Given the description of an element on the screen output the (x, y) to click on. 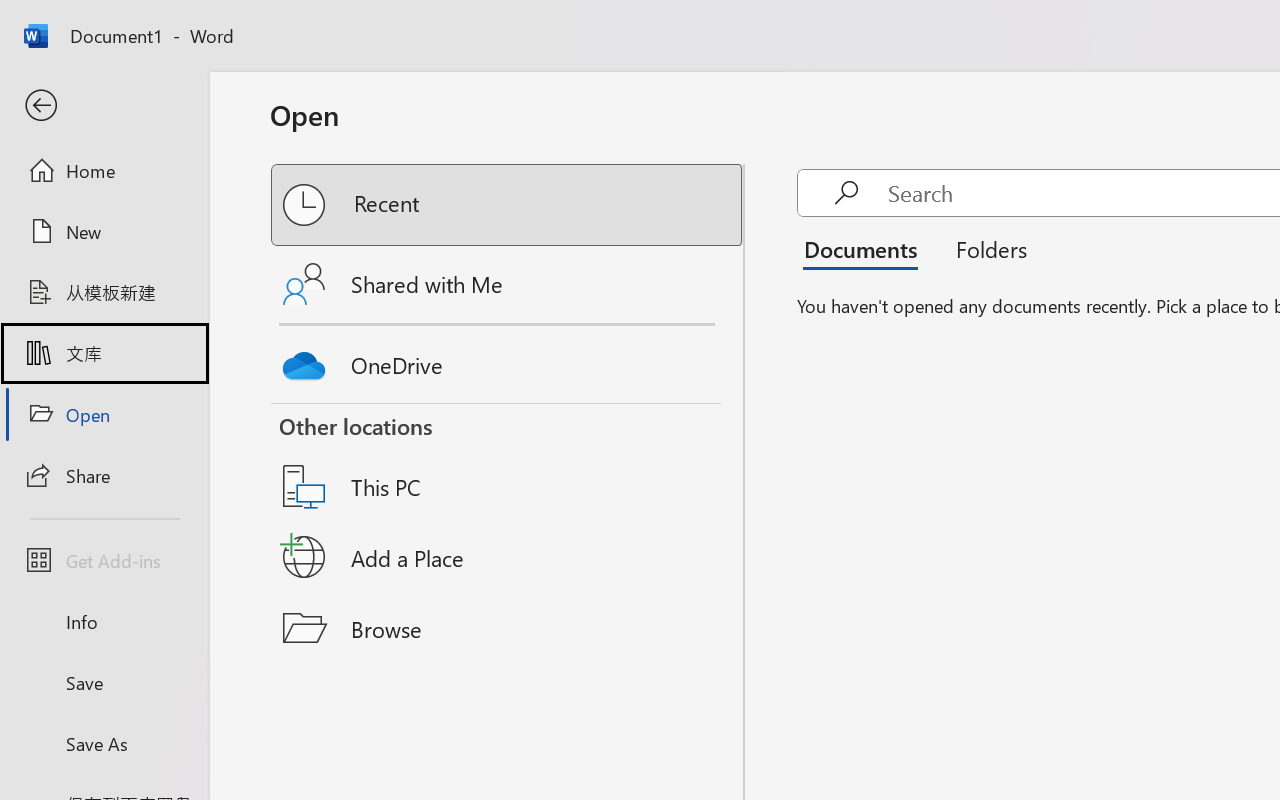
Folders (984, 248)
Browse (507, 627)
Documents (866, 248)
Recent (507, 205)
Add a Place (507, 557)
Back (104, 106)
